Given the description of an element on the screen output the (x, y) to click on. 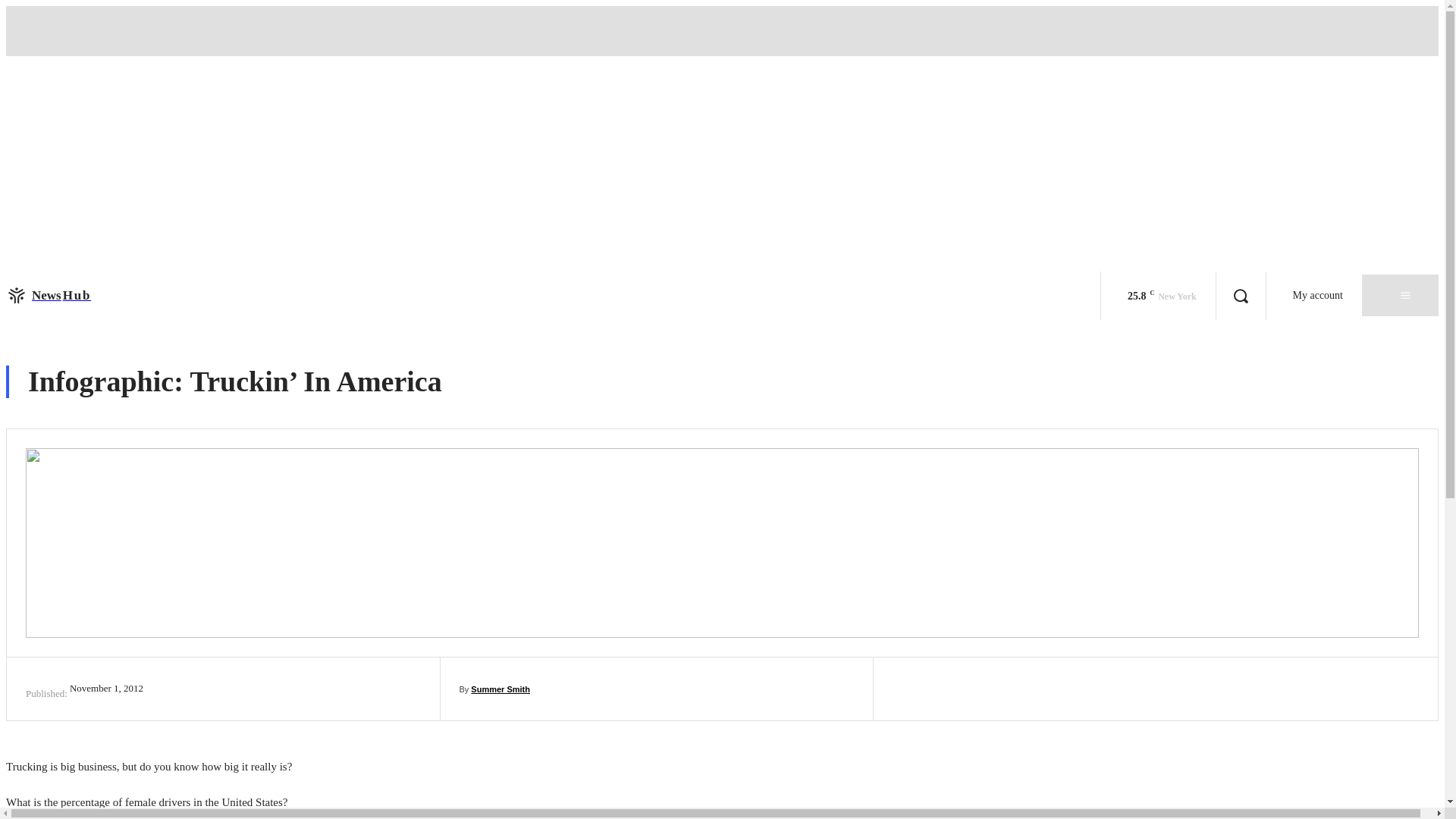
Screen shot 2012-11-01 at 10.13.54 AM (47, 295)
